Given the description of an element on the screen output the (x, y) to click on. 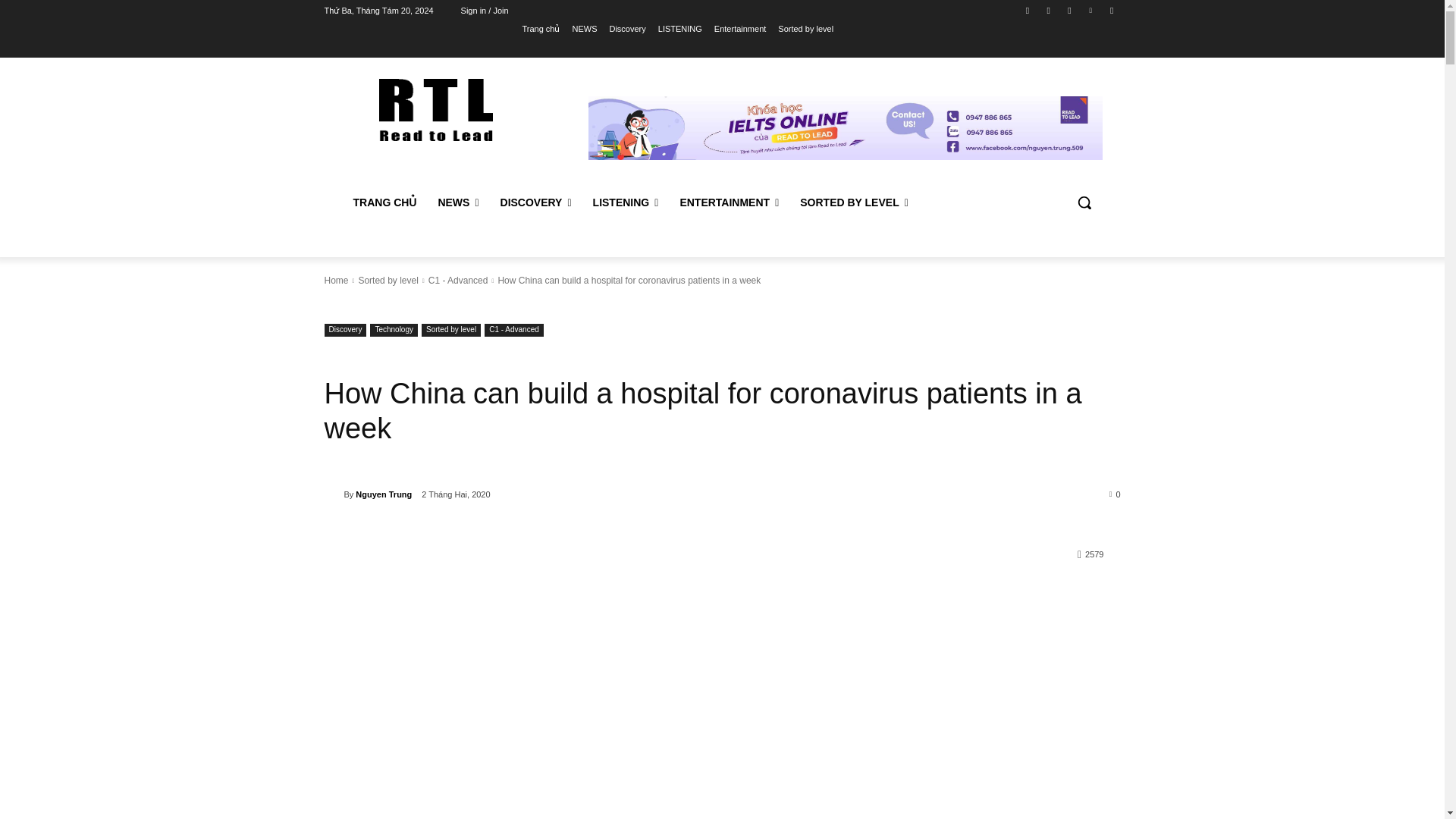
Facebook (1027, 9)
NEWS (584, 28)
Read too lead (435, 109)
Vimeo (1090, 9)
Instagram (1048, 9)
Sorted by level (804, 28)
Discovery (626, 28)
Twitter (1069, 9)
LISTENING (679, 28)
Read too lead (435, 109)
